Given the description of an element on the screen output the (x, y) to click on. 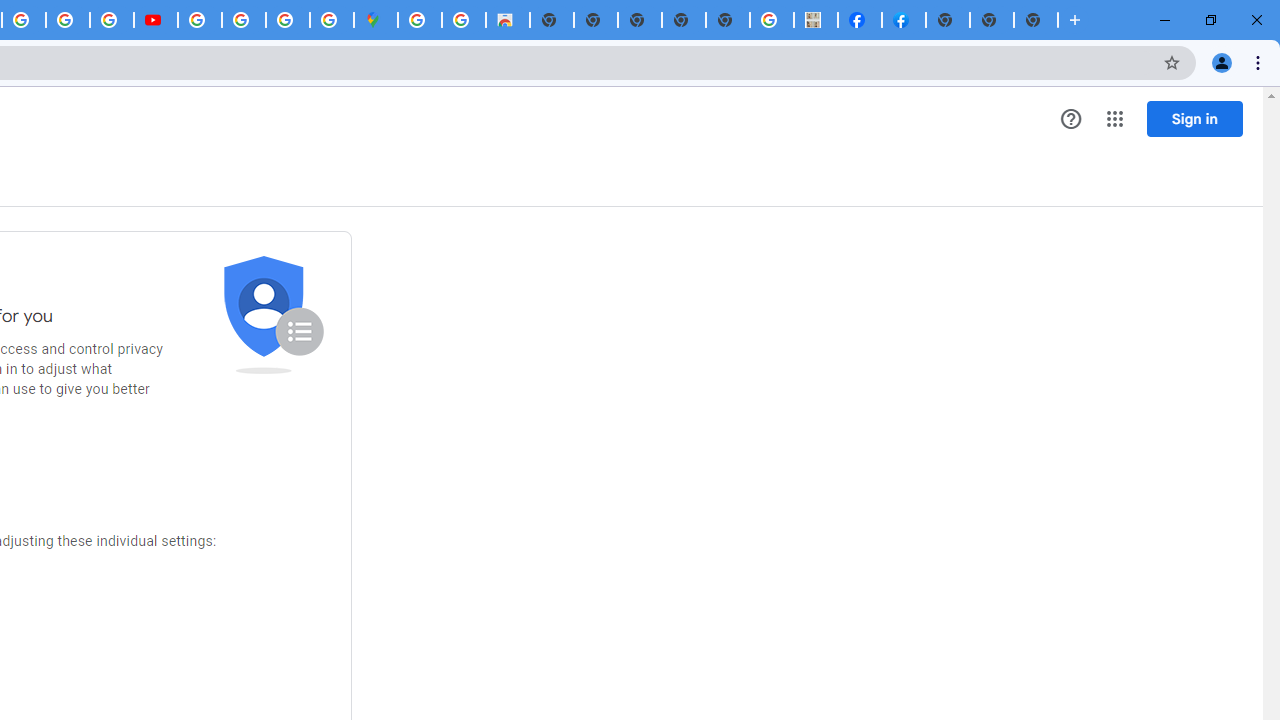
New Tab (1035, 20)
Miley Cyrus | Facebook (859, 20)
Subscriptions - YouTube (155, 20)
MILEY CYRUS. (815, 20)
